Given the description of an element on the screen output the (x, y) to click on. 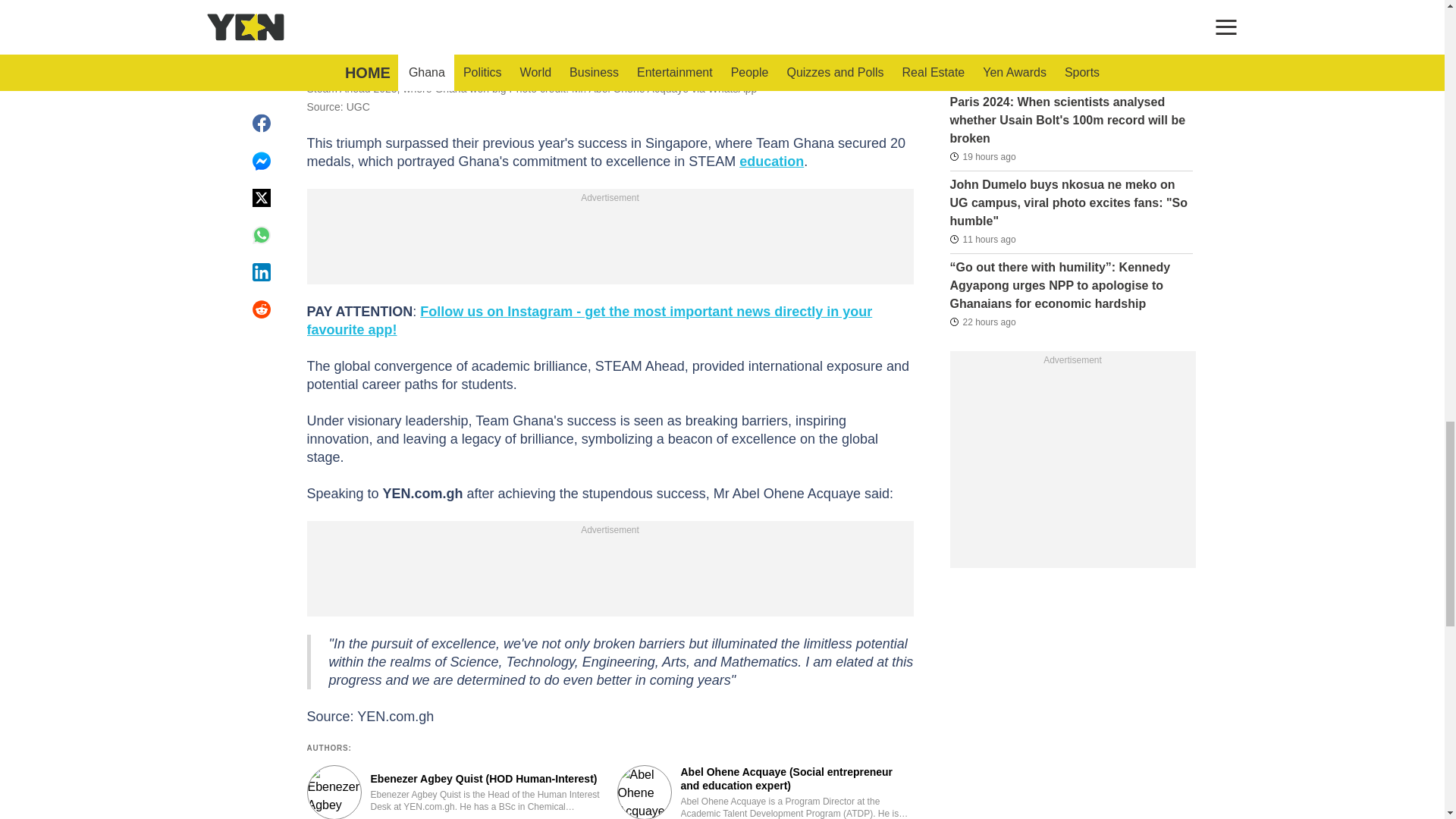
Author page (765, 791)
2024-08-06T01:47:03Z (979, 9)
Author page (453, 791)
Ghana at Steam Ahead 2023 (609, 26)
2024-08-05T11:44:58Z (981, 156)
2024-08-05T14:08:03Z (981, 74)
2024-08-05T19:33:39Z (981, 239)
